Given the description of an element on the screen output the (x, y) to click on. 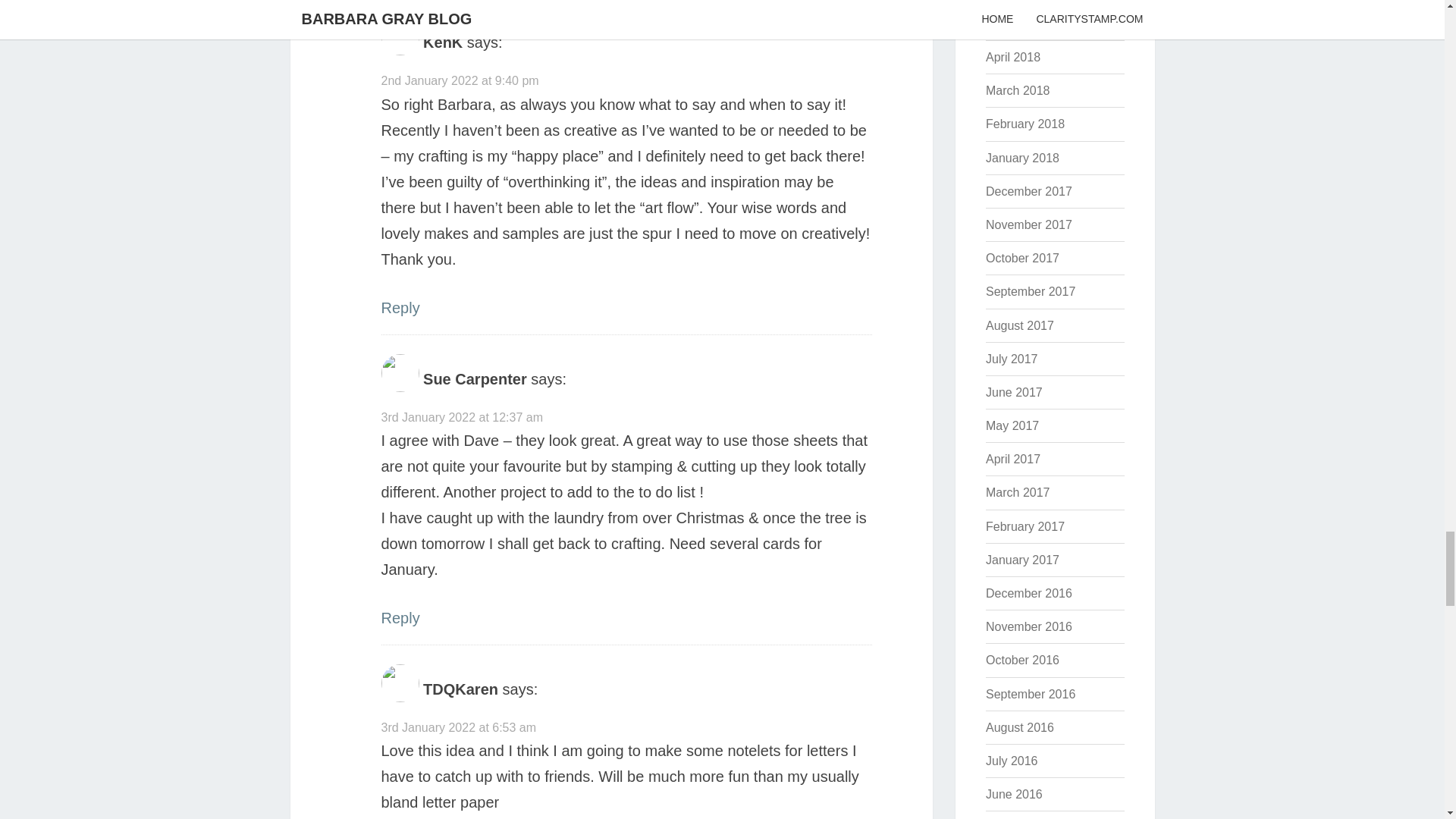
3rd January 2022 at 12:37 am (460, 417)
Reply (399, 307)
Reply (399, 617)
2nd January 2022 at 9:40 pm (459, 80)
3rd January 2022 at 6:53 am (457, 727)
